Given the description of an element on the screen output the (x, y) to click on. 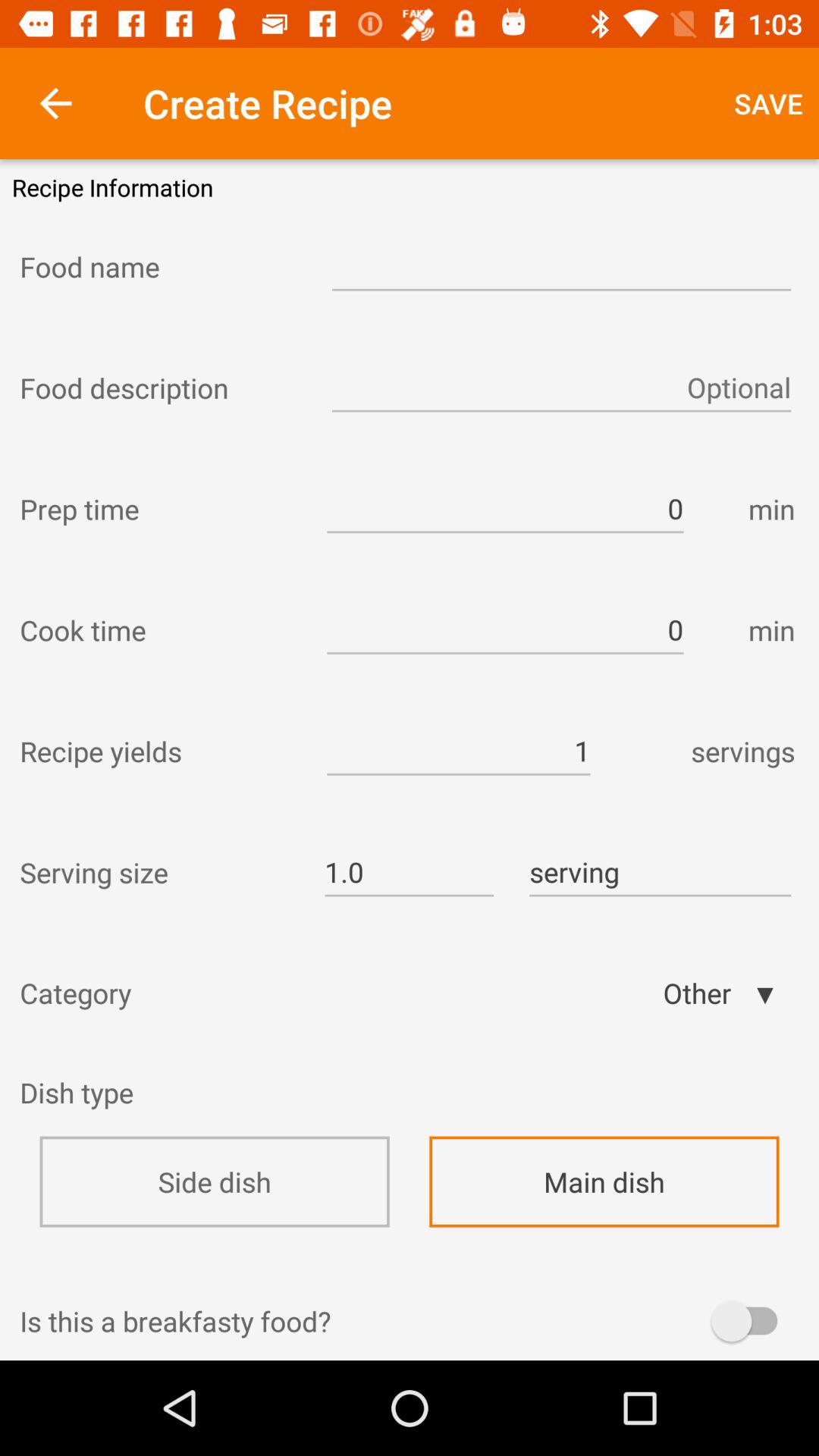
launch item to the left of serving icon (408, 872)
